Given the description of an element on the screen output the (x, y) to click on. 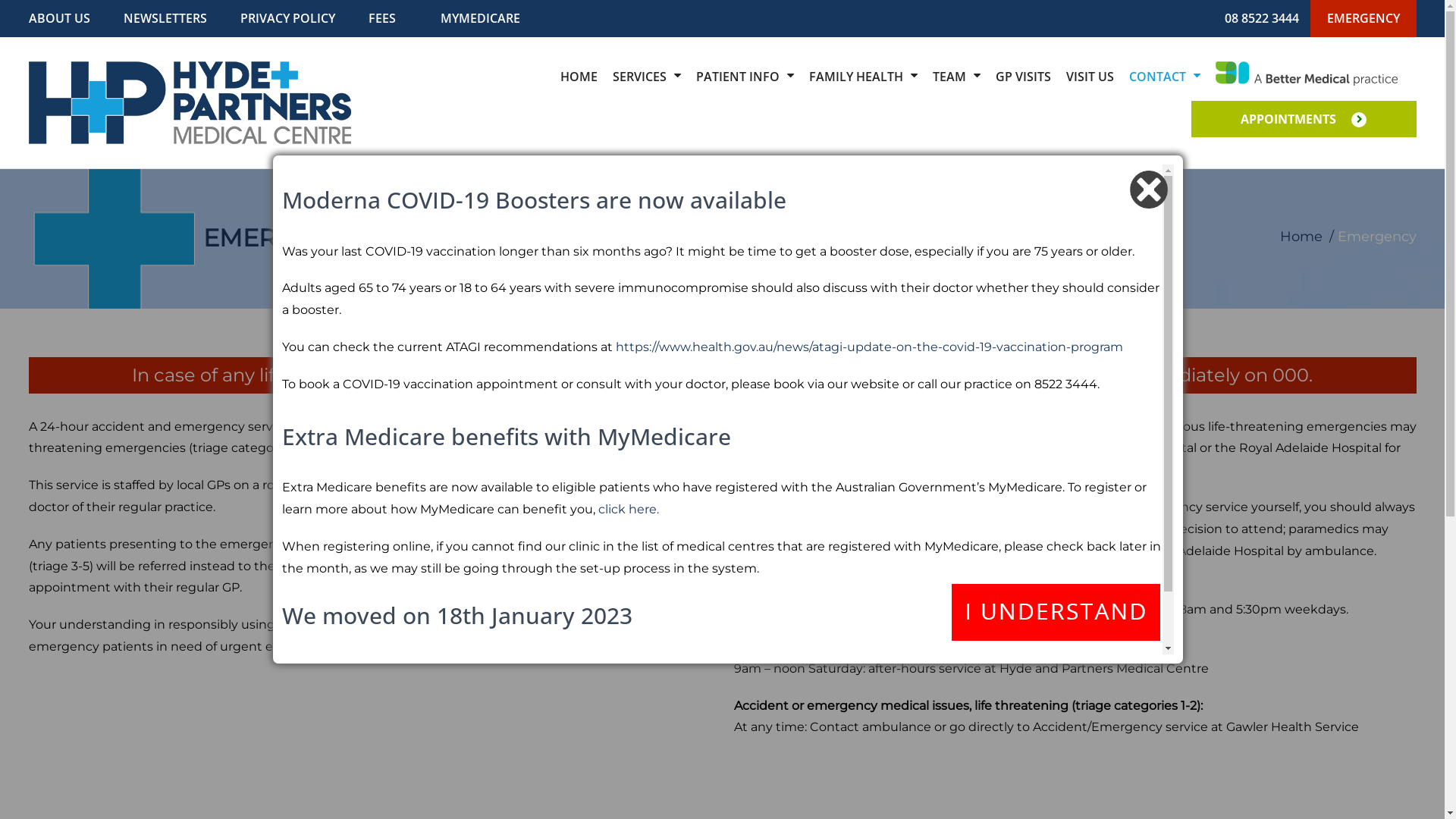
FEES Element type: text (381, 18)
SERVICES Element type: text (646, 76)
MYMEDICARE Element type: text (479, 18)
CONTACT Element type: text (1163, 76)
GP VISITS Element type: text (1022, 76)
TEAM Element type: text (956, 76)
Close Element type: hover (1055, 611)
HOME Element type: text (577, 76)
NEWSLETTERS Element type: text (164, 18)
Home Element type: text (1301, 236)
VISIT US Element type: text (1090, 76)
FAMILY HEALTH Element type: text (862, 76)
ABOUT US Element type: text (59, 18)
click here. Element type: text (628, 509)
EMERGENCY Element type: text (1362, 18)
08 8522 3444 Element type: text (1261, 18)
here Element type: text (868, 666)
PRIVACY POLICY Element type: text (286, 18)
APPOINTMENTS Element type: text (1302, 118)
PATIENT INFO Element type: text (745, 76)
